Given the description of an element on the screen output the (x, y) to click on. 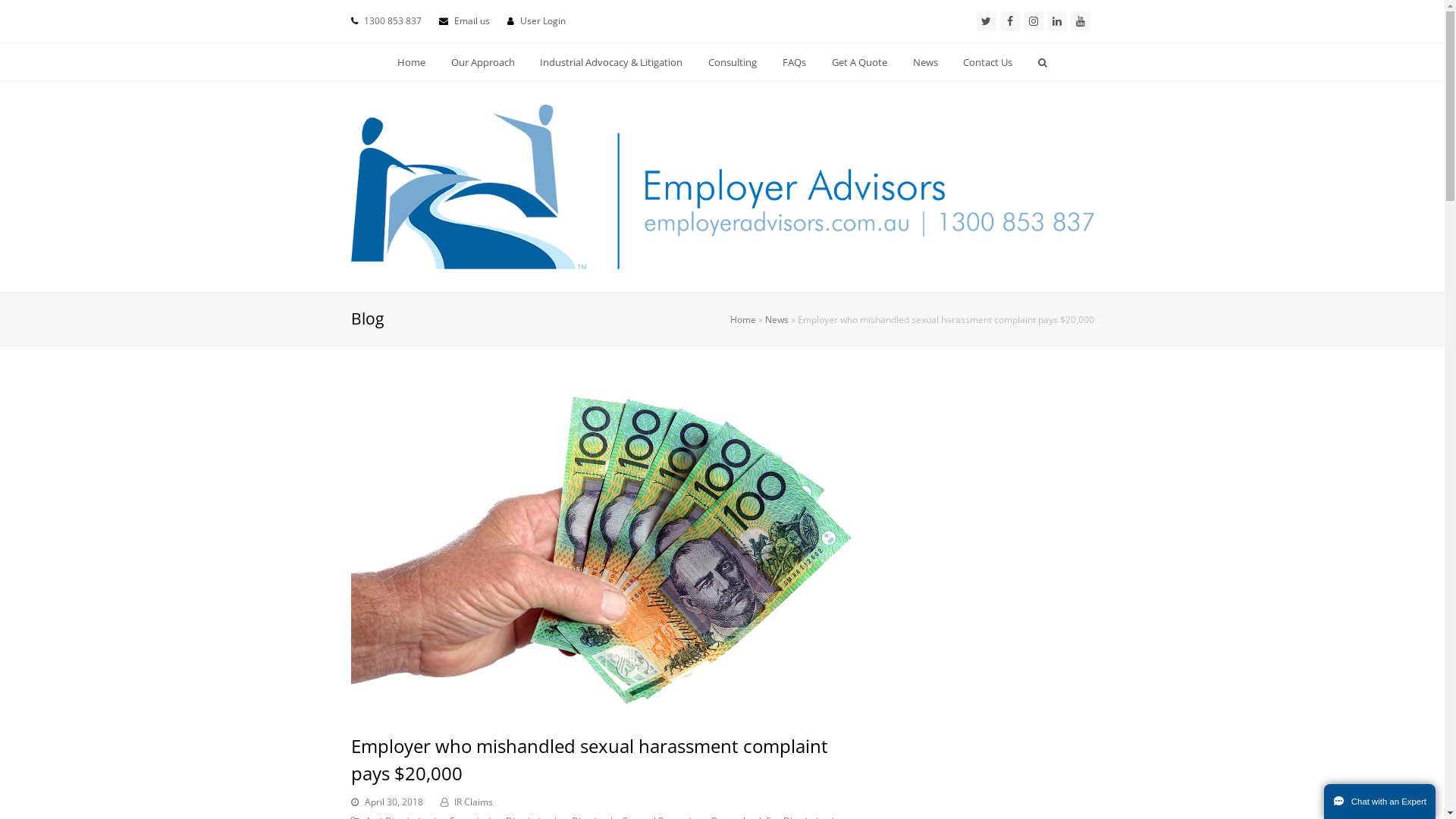
Home Element type: text (410, 62)
Our Approach Element type: text (482, 62)
News Element type: text (924, 62)
Twitter Element type: text (986, 21)
Get A Quote Element type: text (858, 62)
Home Element type: text (742, 319)
Consulting Element type: text (732, 62)
IR Claims Element type: text (472, 801)
Youtube Element type: text (1080, 21)
Email us Element type: text (471, 20)
News Element type: text (775, 319)
Instagram Element type: text (1033, 21)
LinkedIn Element type: text (1056, 21)
Facebook Element type: text (1009, 21)
Industrial Advocacy & Litigation Element type: text (611, 62)
User Login Element type: text (542, 20)
FAQs Element type: text (794, 62)
Contact Us Element type: text (987, 62)
